Given the description of an element on the screen output the (x, y) to click on. 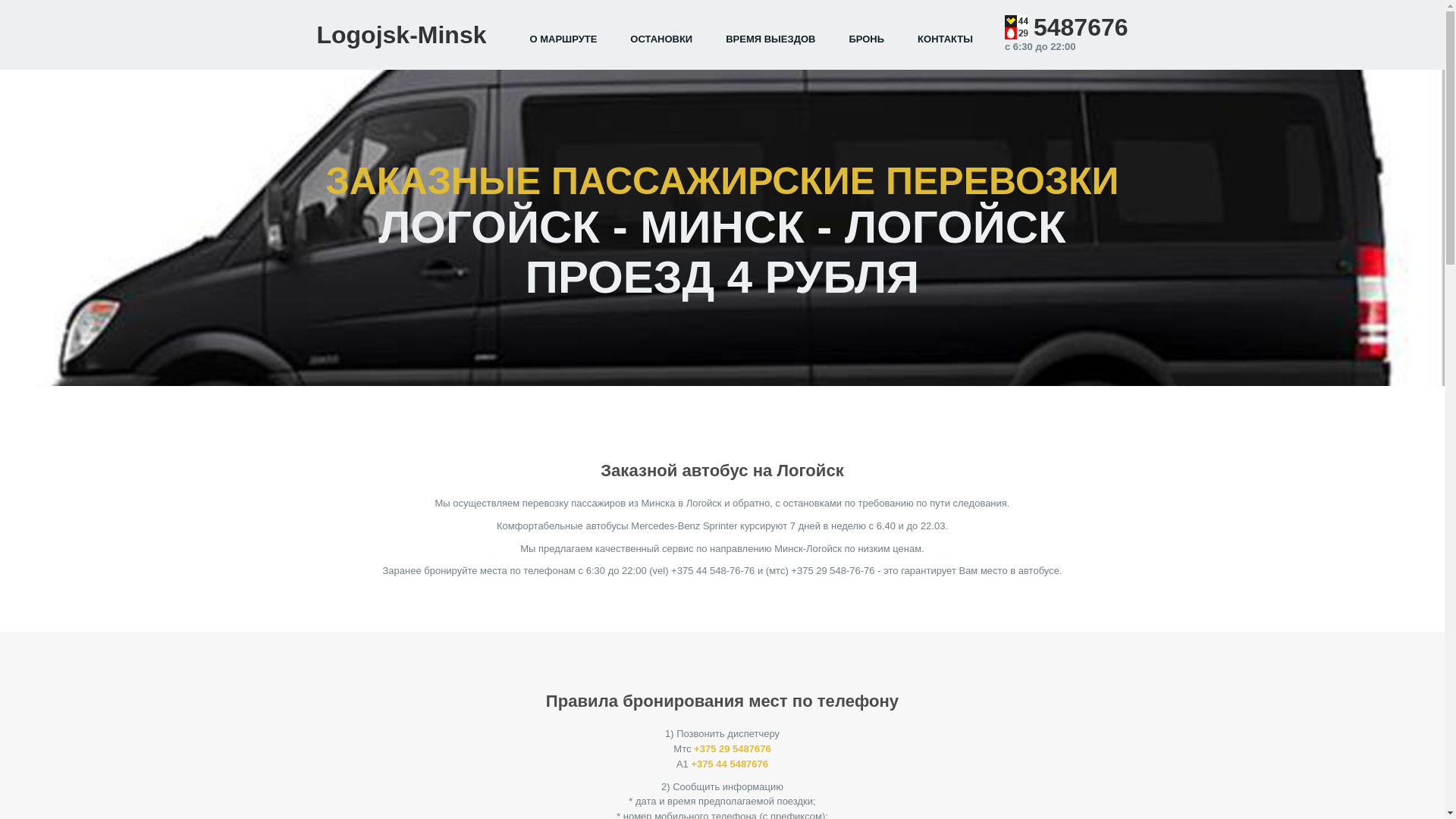
Logojsk-Minsk Element type: text (401, 34)
5487676 Element type: text (1080, 26)
+375 44 5487676 Element type: text (729, 763)
+375 29 5487676 Element type: text (732, 748)
